Given the description of an element on the screen output the (x, y) to click on. 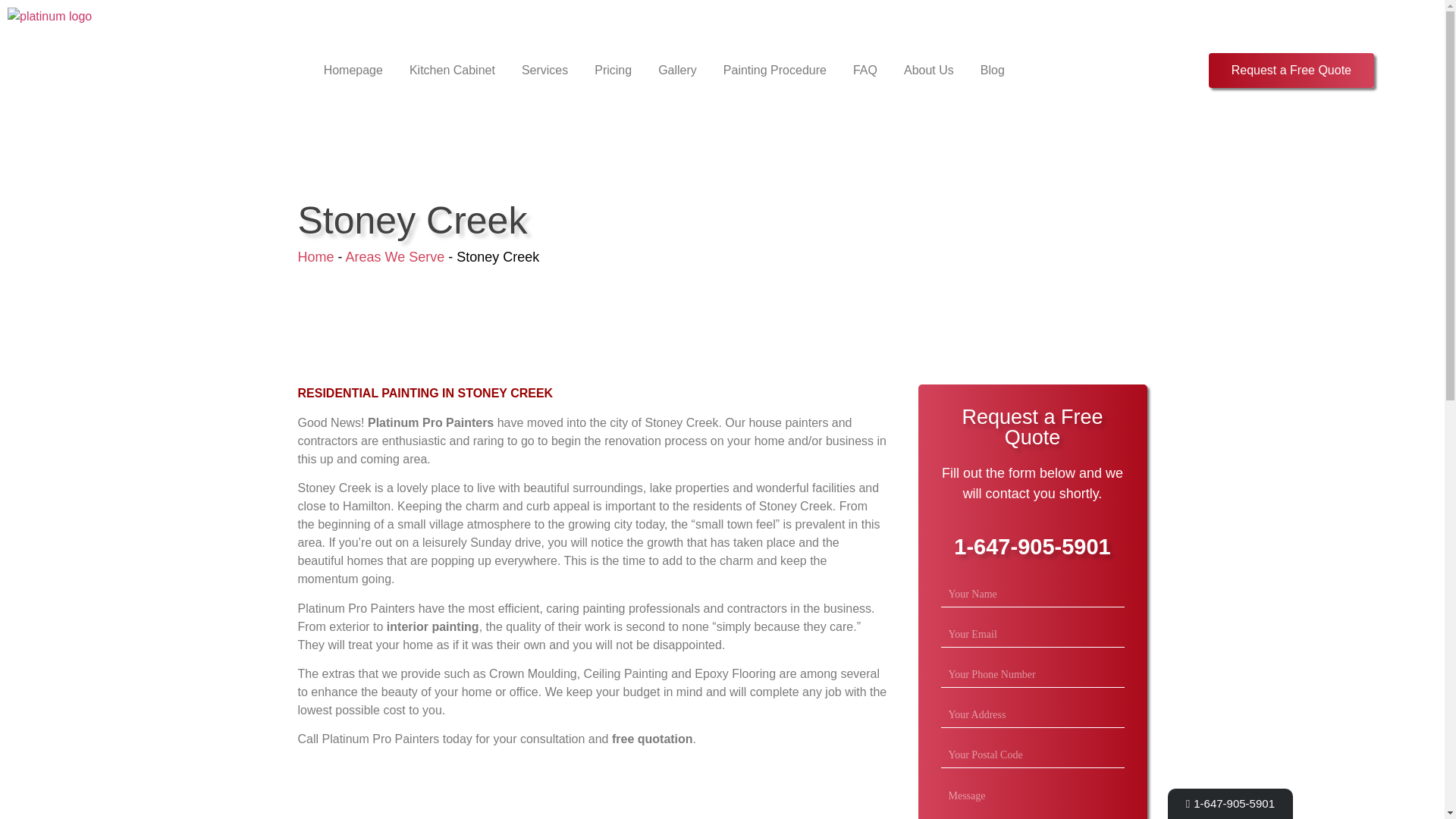
Gallery (677, 70)
About Us (928, 70)
Services (544, 70)
Pricing (612, 70)
Painting Procedure (775, 70)
Kitchen Cabinet (452, 70)
Homepage (352, 70)
